Given the description of an element on the screen output the (x, y) to click on. 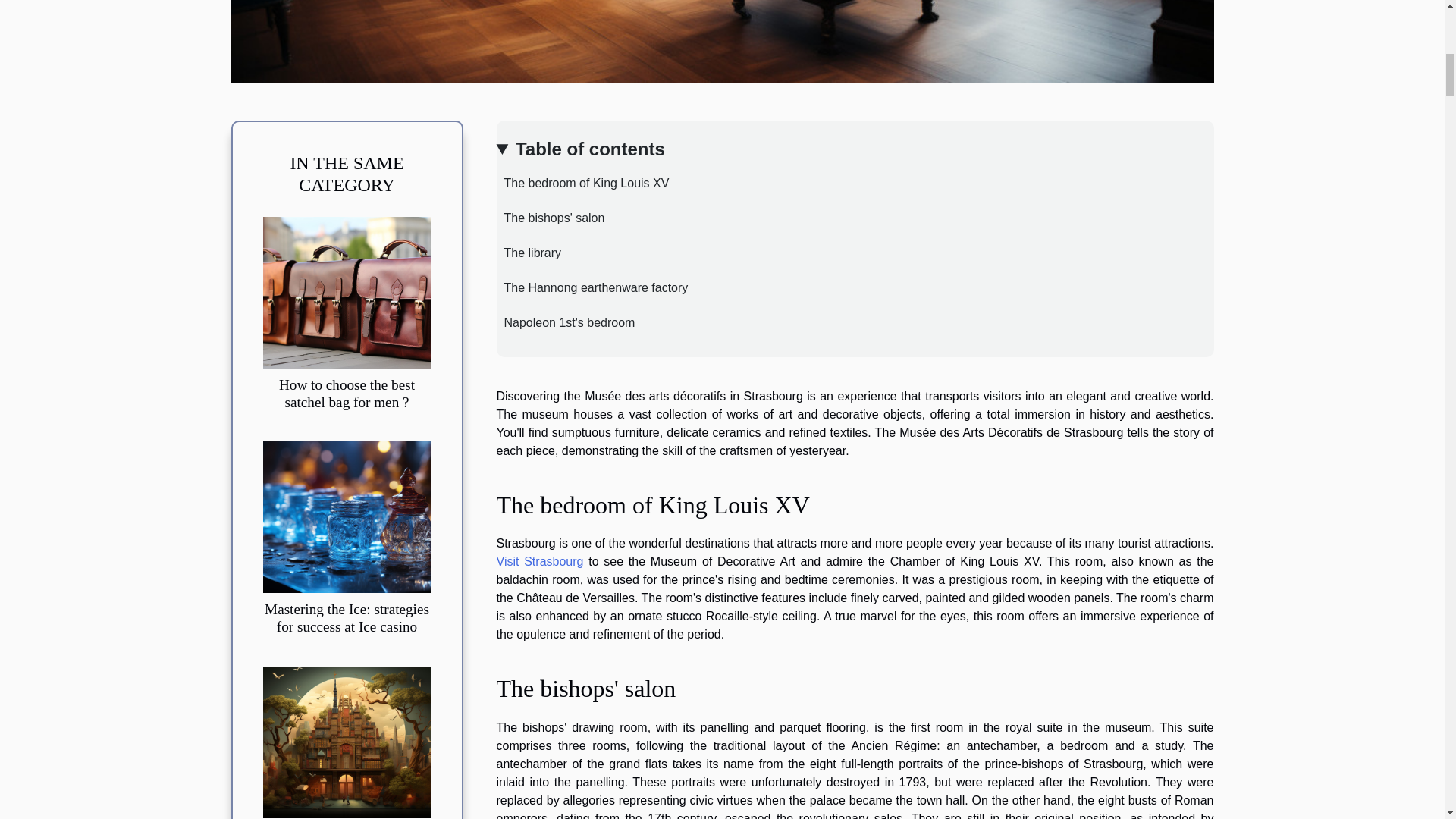
Mastering the Ice: strategies for success at Ice casino (346, 516)
How to choose the best satchel bag for men ? (346, 291)
The bishops' salon (550, 217)
Visit Strasbourg (539, 561)
How to choose the best satchel bag for men ? (346, 393)
The Hannong earthenware factory (591, 287)
Napoleon 1st's bedroom (565, 322)
The library (528, 252)
Y words in french: unlocking a world of linguistic marvels (346, 740)
Mastering the Ice: strategies for success at Ice casino (346, 617)
